Given the description of an element on the screen output the (x, y) to click on. 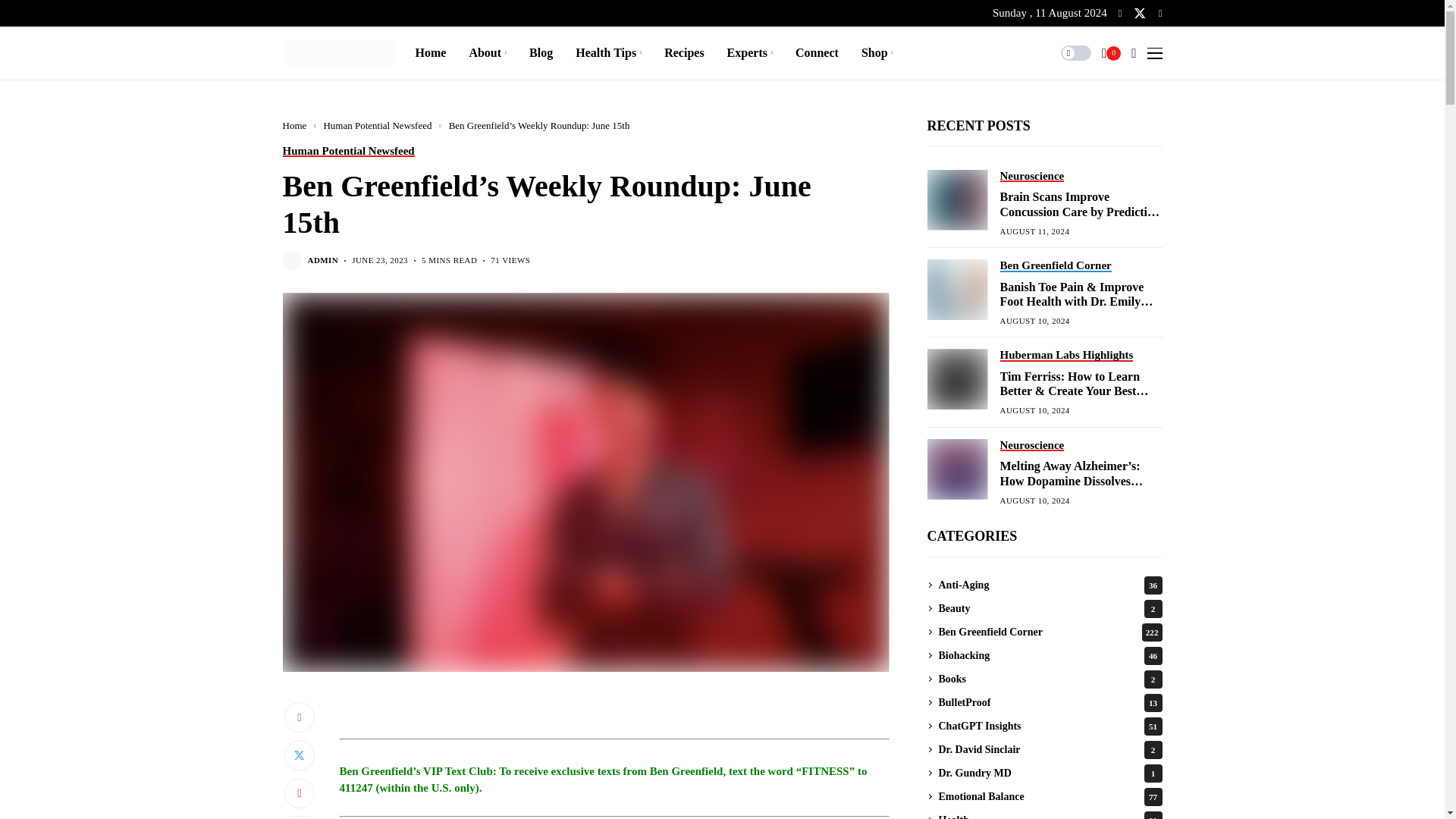
Health Tips (608, 52)
Posts by admin (323, 260)
